Given the description of an element on the screen output the (x, y) to click on. 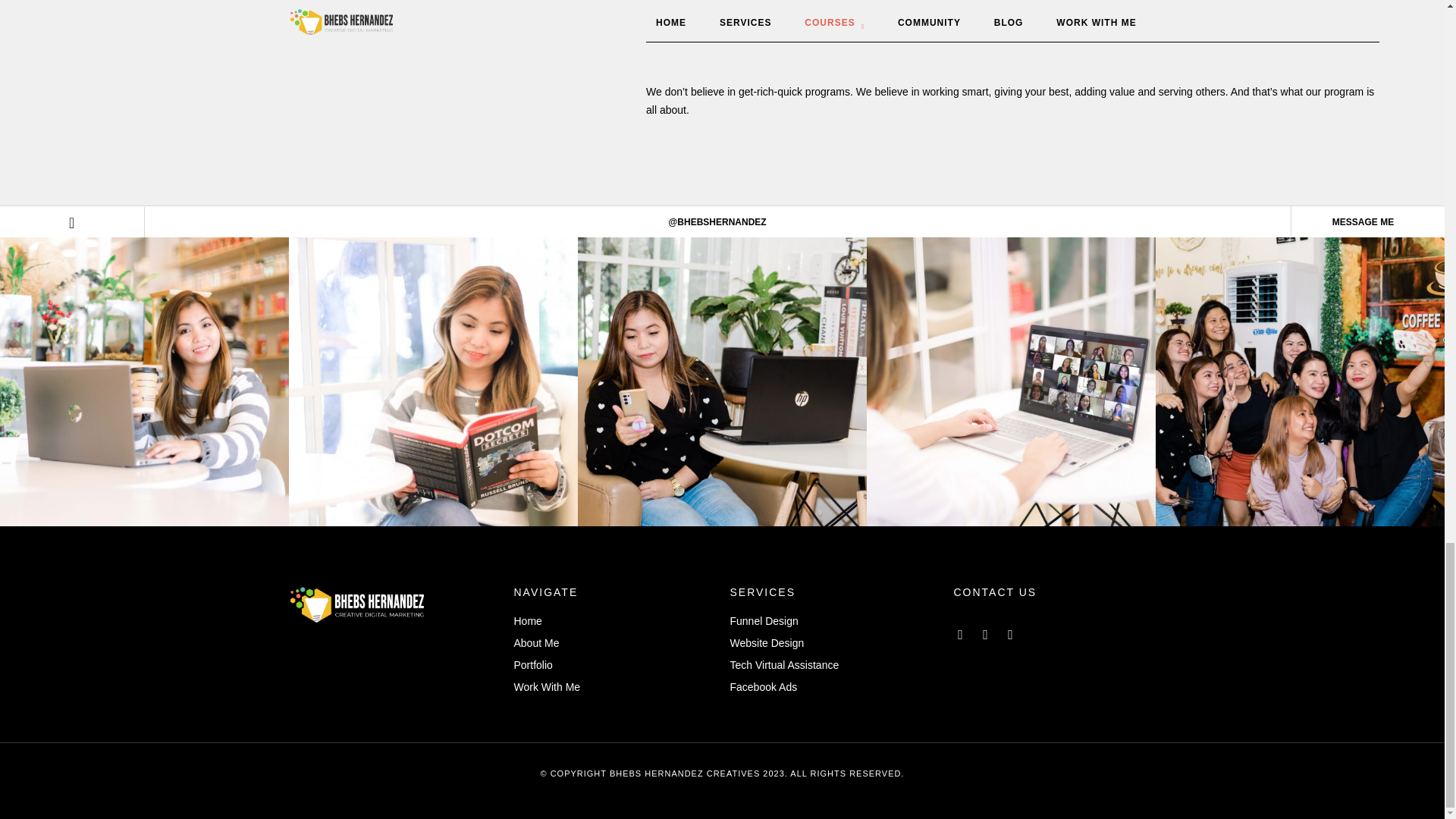
Home (613, 621)
Work With Me (613, 687)
MESSAGE ME (1362, 222)
About Me (613, 643)
